Given the description of an element on the screen output the (x, y) to click on. 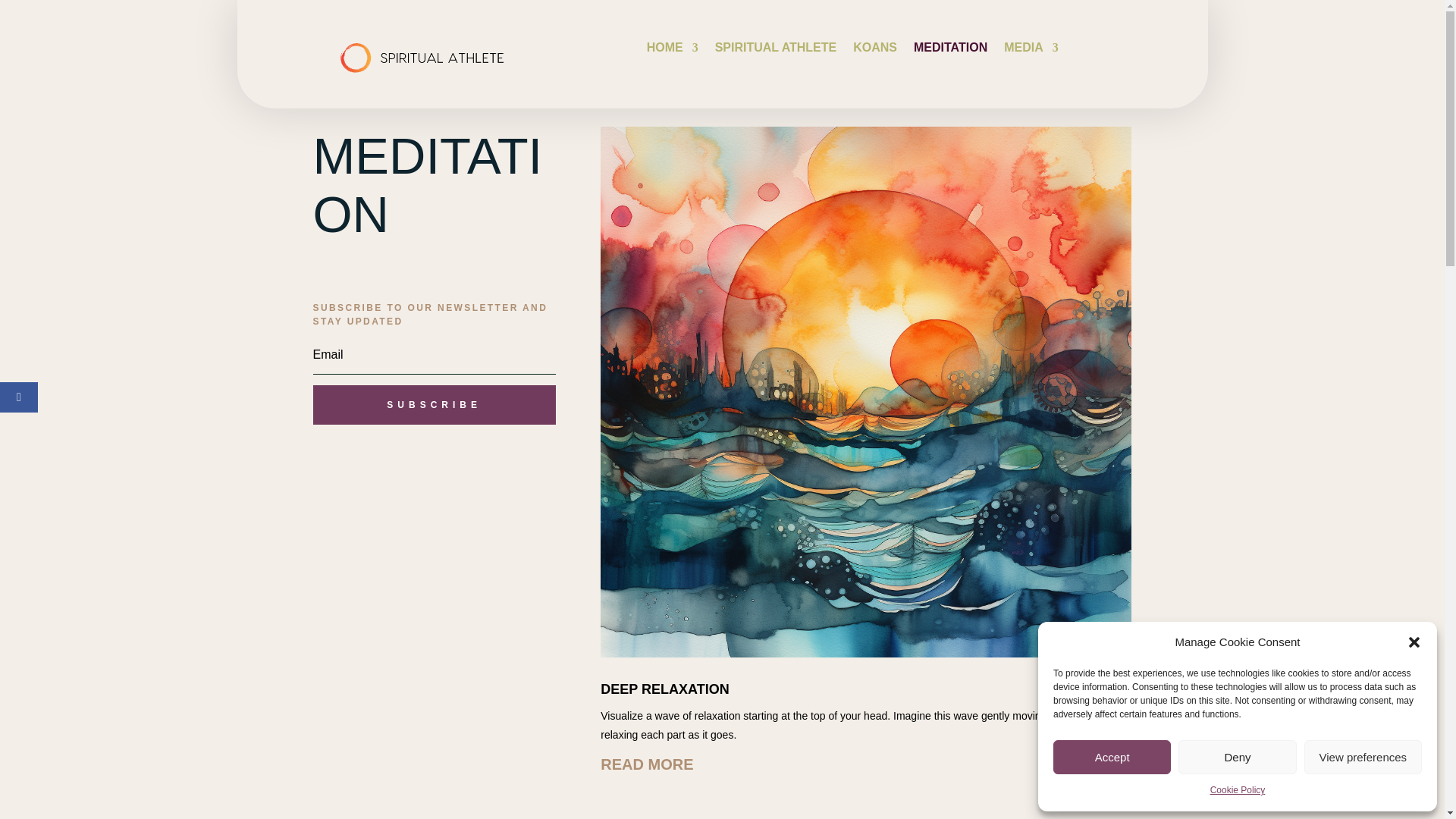
READ MORE (865, 758)
SA-logo-small2 (422, 54)
SPIRITUAL ATHLETE (775, 50)
MEDITATION (950, 50)
Deny (1236, 756)
KOANS (874, 50)
SUBSCRIBE (433, 404)
HOME (672, 50)
MEDIA (1031, 50)
View preferences (1363, 756)
